Given the description of an element on the screen output the (x, y) to click on. 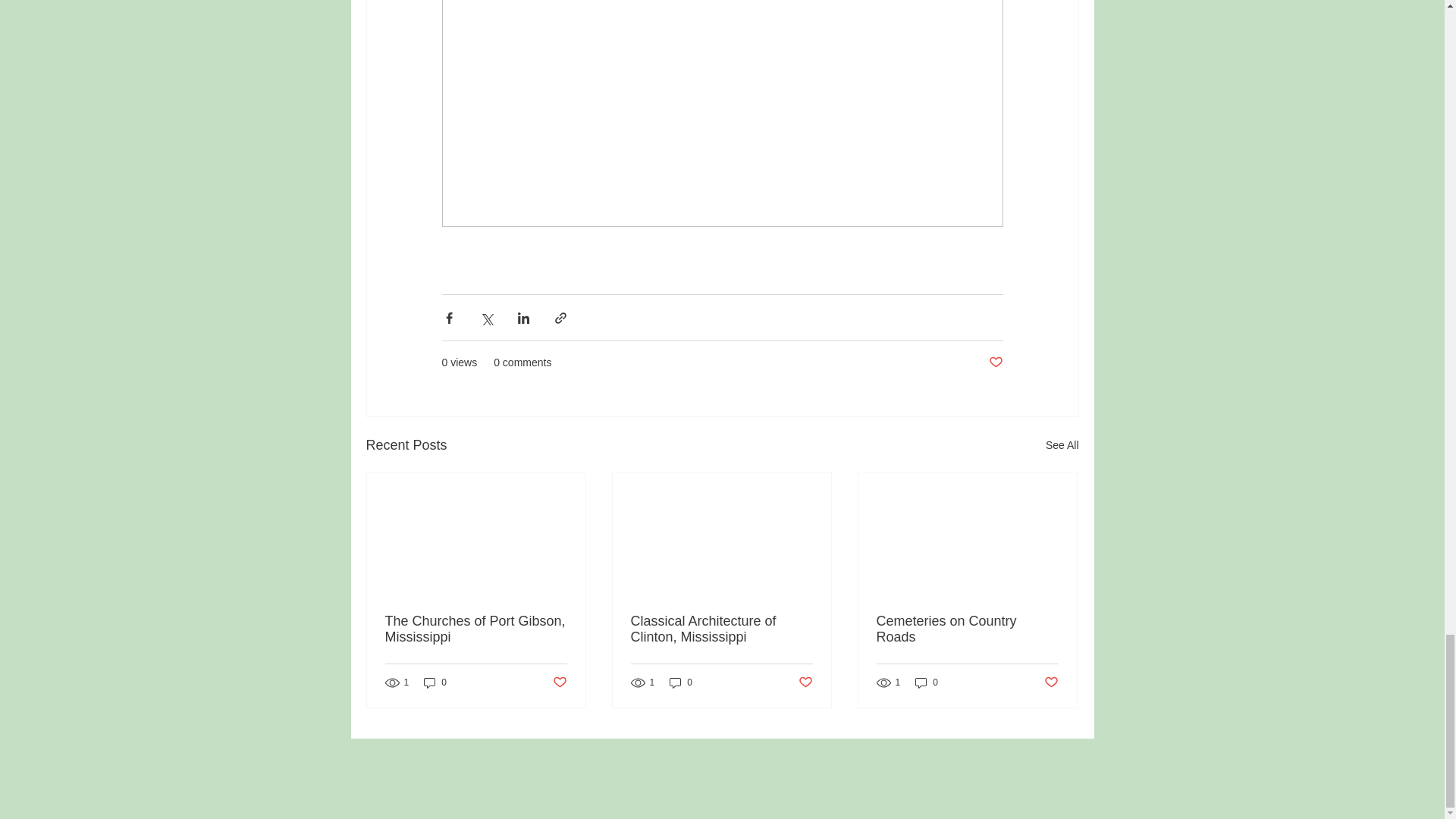
Post not marked as liked (995, 362)
Post not marked as liked (1050, 682)
Post not marked as liked (804, 682)
Classical Architecture of Clinton, Mississippi (721, 629)
0 (435, 682)
The Churches of Port Gibson, Mississippi (476, 629)
See All (1061, 445)
0 (681, 682)
0 (926, 682)
Post not marked as liked (558, 682)
